Given the description of an element on the screen output the (x, y) to click on. 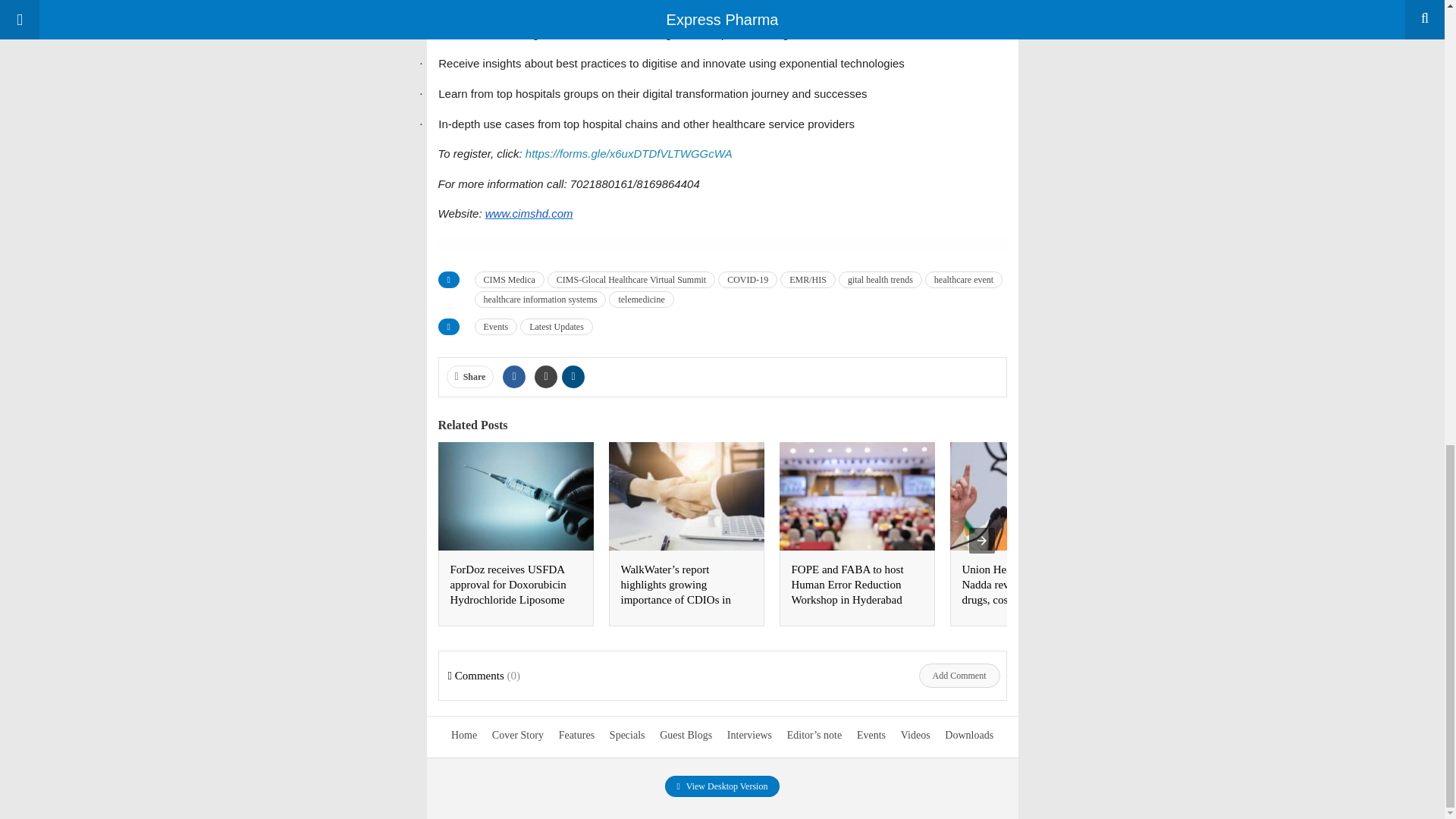
healthcare information systems (540, 299)
Events (496, 326)
www.cimshd.com (528, 213)
gital health trends (879, 279)
Home (464, 735)
Latest Updates (555, 326)
healthcare event (963, 279)
Add Comment (959, 674)
CIMS-Glocal Healthcare Virtual Summit (630, 279)
COVID-19 (747, 279)
CIMS Medica (509, 279)
